Given the description of an element on the screen output the (x, y) to click on. 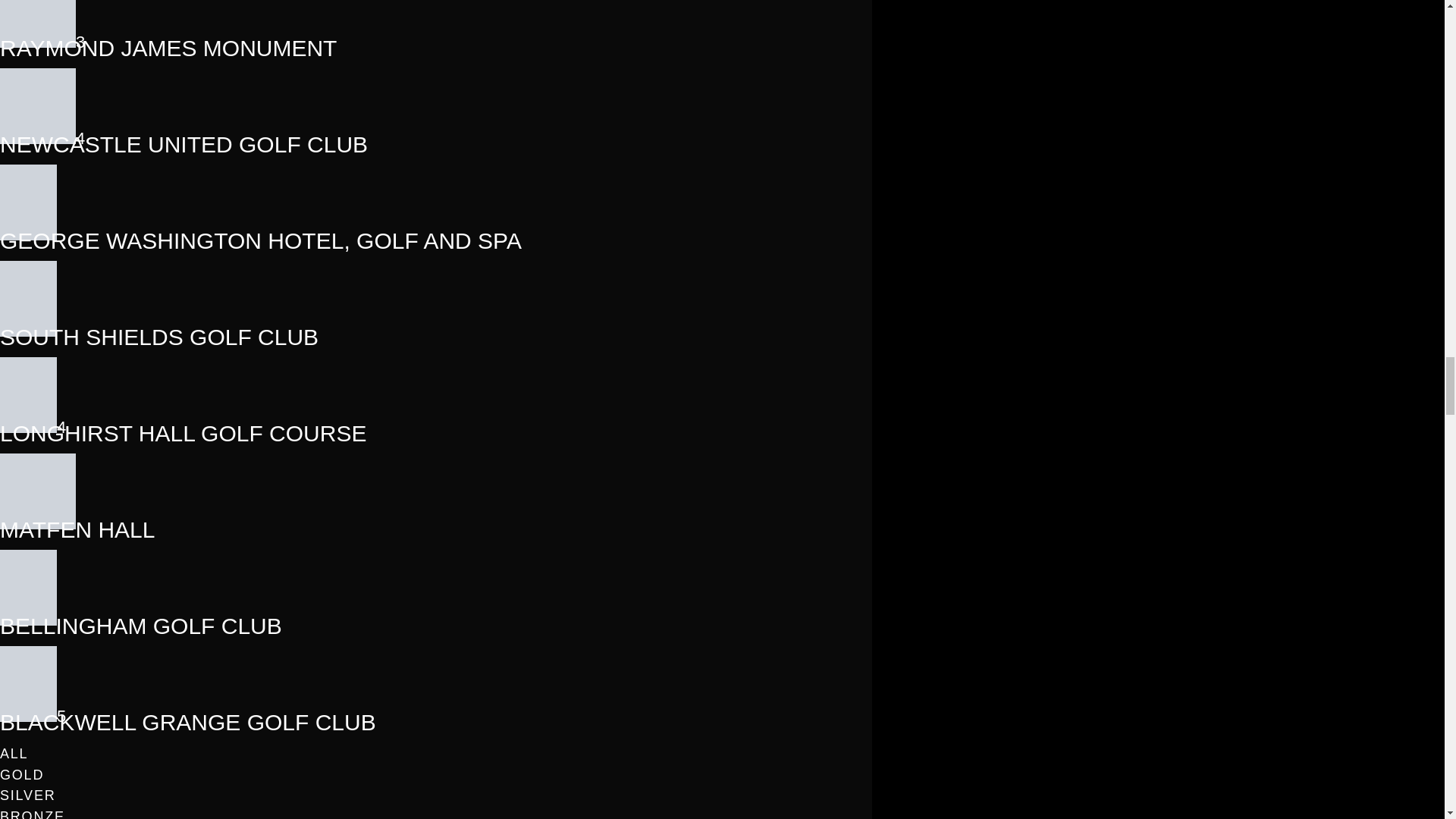
RaymondJamesMonumentHERO (37, 41)
SouthShields1 (28, 330)
MatfenHero (37, 523)
image (37, 138)
Longhirst1 (28, 426)
WonderfulWashington (28, 234)
